Given the description of an element on the screen output the (x, y) to click on. 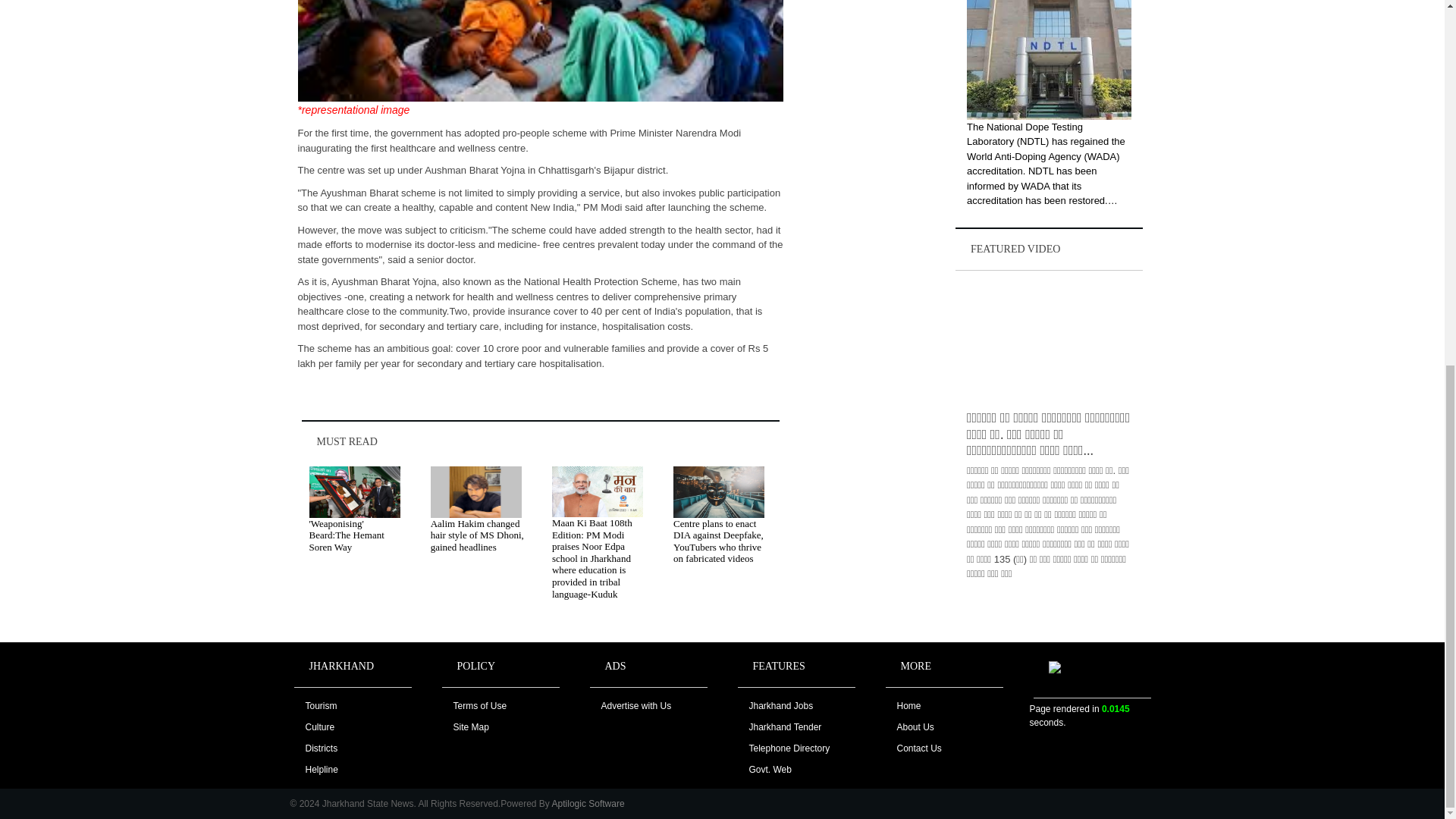
Aalim Hakim changed hair style of MS Dhoni, gained headlines (477, 534)
'Weaponising' Beard:The Hemant Soren Way (346, 534)
